Given the description of an element on the screen output the (x, y) to click on. 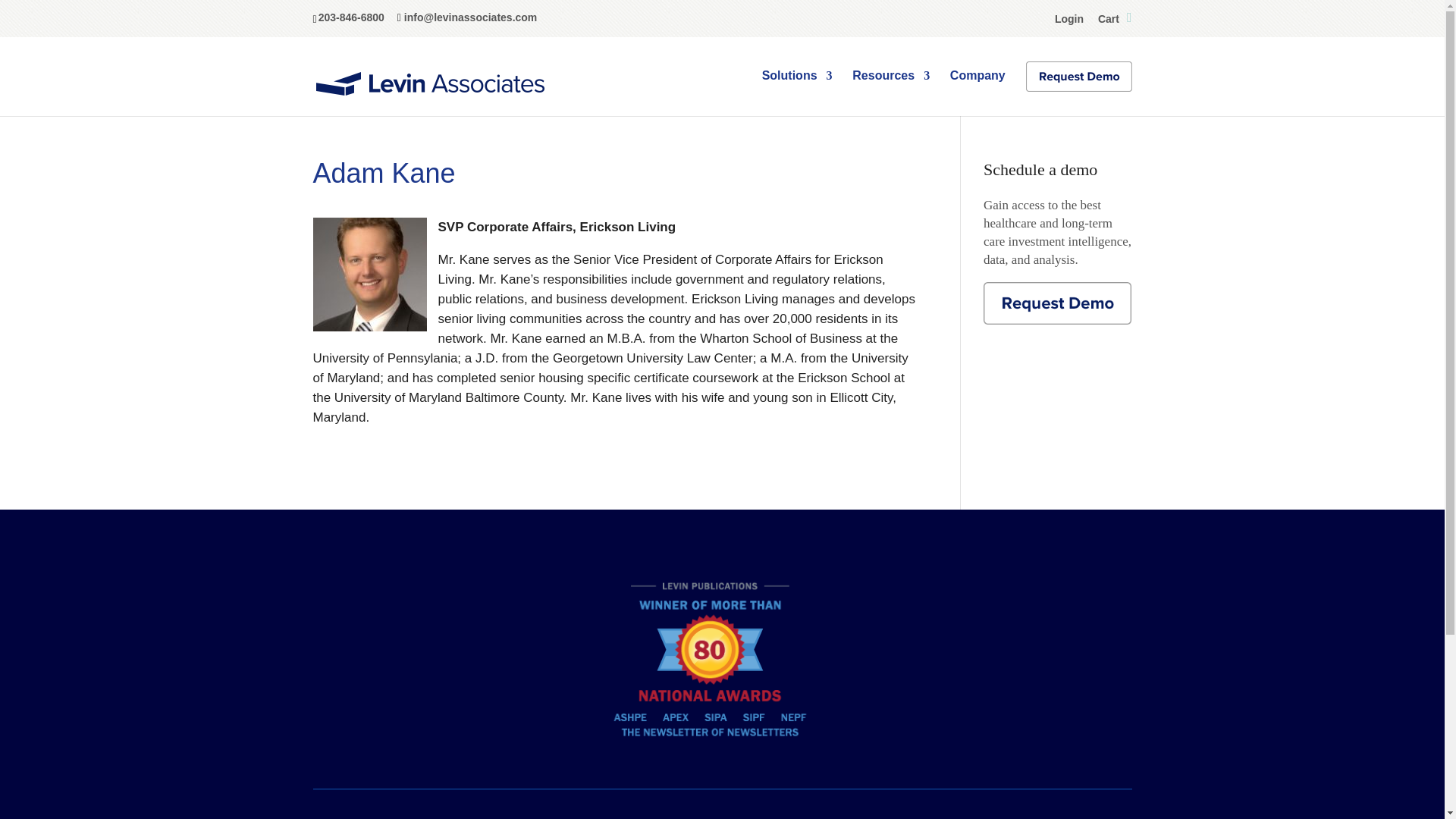
Resources (890, 87)
Login (1068, 21)
Cart (1114, 21)
Company (978, 87)
Solutions (796, 87)
